Given the description of an element on the screen output the (x, y) to click on. 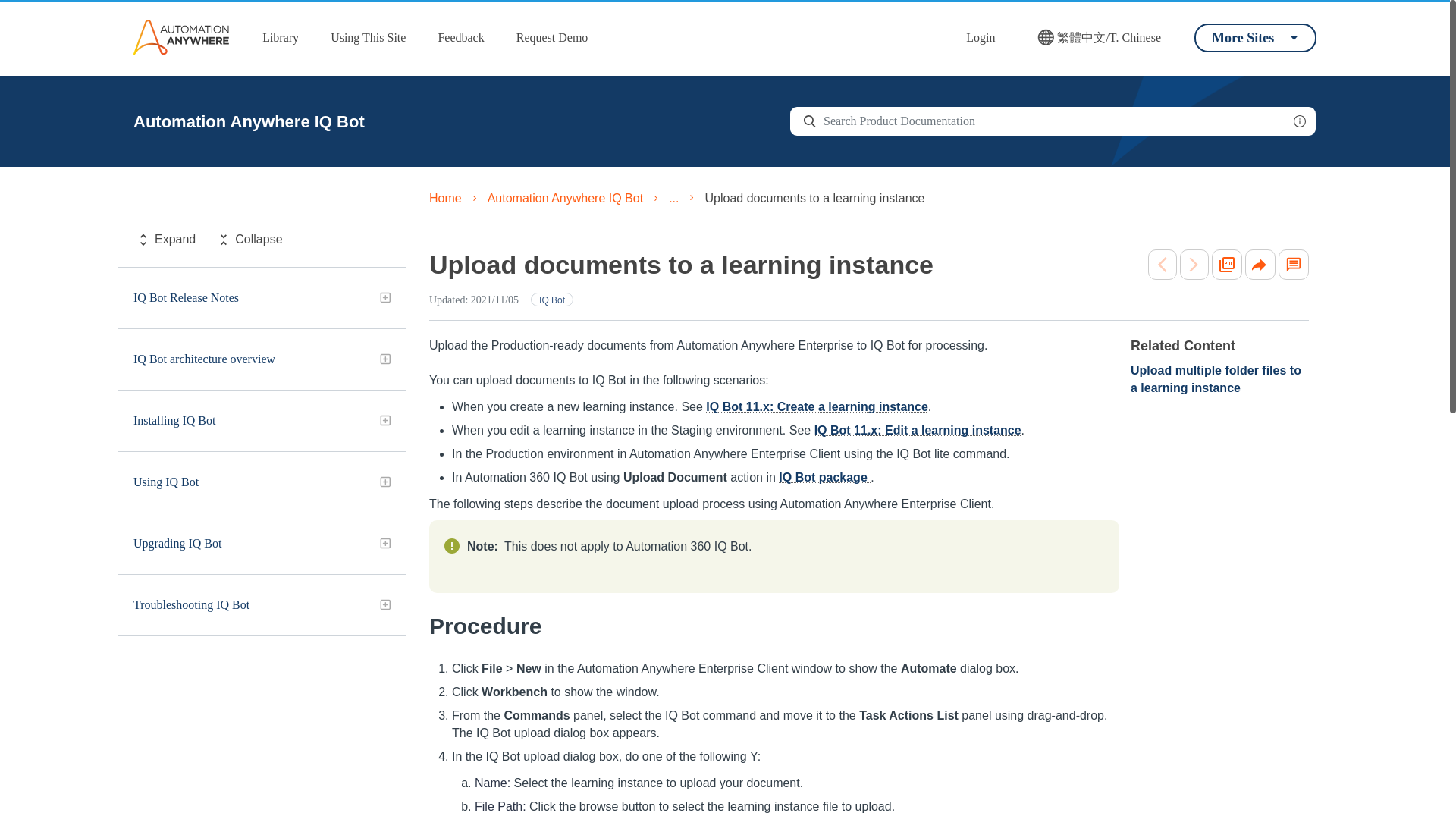
Feedback (460, 37)
More Sites (1254, 36)
Request Demo (551, 37)
Library (280, 37)
Login (980, 37)
Using This Site (367, 37)
